Given the description of an element on the screen output the (x, y) to click on. 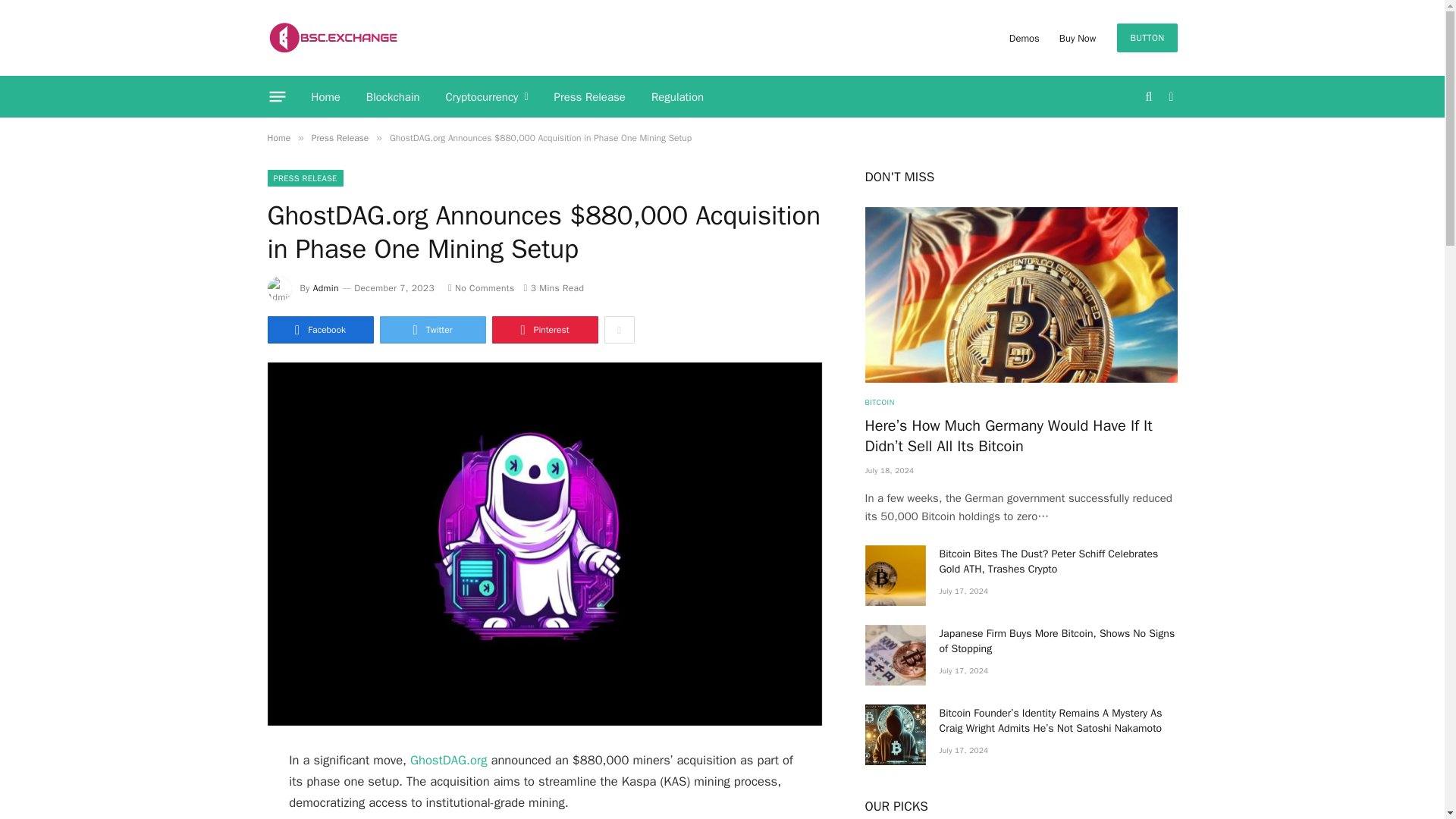
Blockchain (392, 96)
Share on Facebook (319, 329)
Switch to Dark Design - easier on eyes. (1168, 96)
Share on Pinterest (544, 329)
Admin (326, 287)
Press Release (340, 137)
Regulation (677, 96)
Home (277, 137)
Cryptocurrency (486, 96)
Facebook (319, 329)
Bsc.exchange (332, 37)
Twitter (431, 329)
Home (325, 96)
BUTTON (1146, 37)
PRESS RELEASE (304, 177)
